Given the description of an element on the screen output the (x, y) to click on. 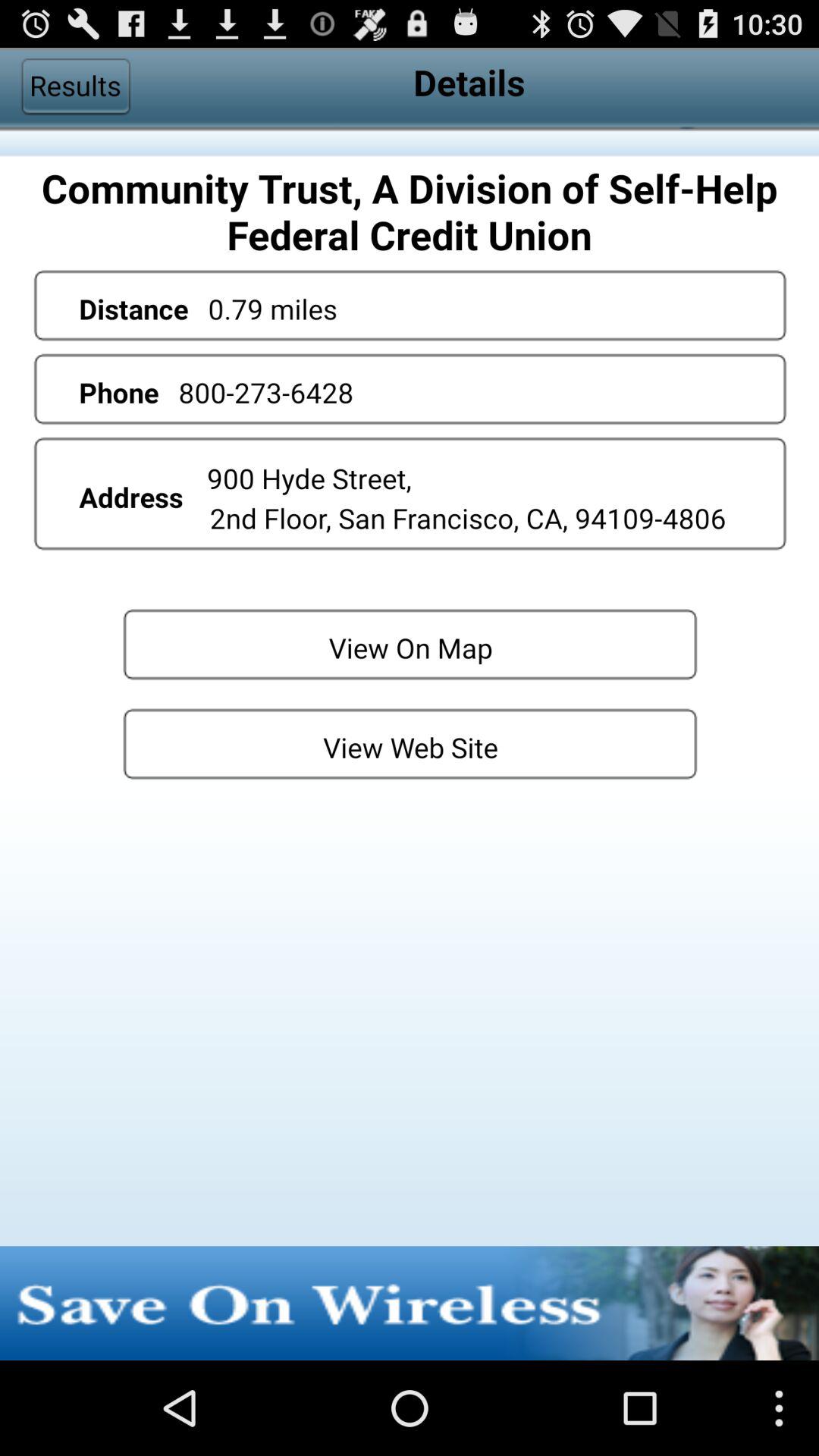
turn off view on map button (409, 643)
